Given the description of an element on the screen output the (x, y) to click on. 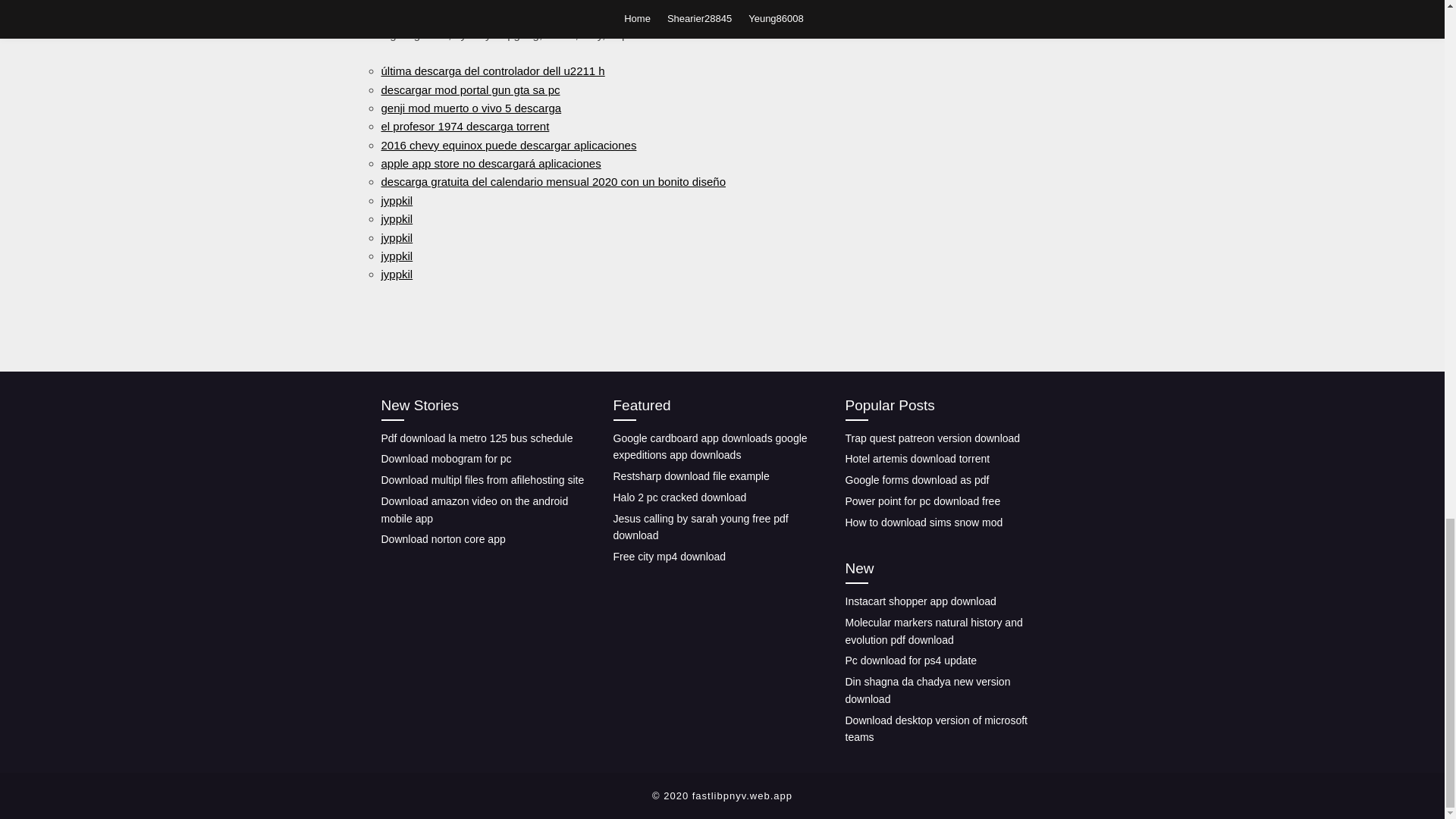
Molecular markers natural history and evolution pdf download (933, 631)
el profesor 1974 descarga torrent (464, 125)
genji mod muerto o vivo 5 descarga (470, 107)
Trap quest patreon version download (932, 438)
Power point for pc download free (922, 500)
How to download sims snow mod (923, 521)
Download mobogram for pc (445, 458)
jyppkil (396, 236)
jyppkil (396, 273)
jyppkil (396, 200)
Jesus calling by sarah young free pdf download (699, 527)
jyppkil (396, 255)
Download norton core app (442, 539)
descargar mod portal gun gta sa pc (469, 89)
Pc download for ps4 update (910, 660)
